Given the description of an element on the screen output the (x, y) to click on. 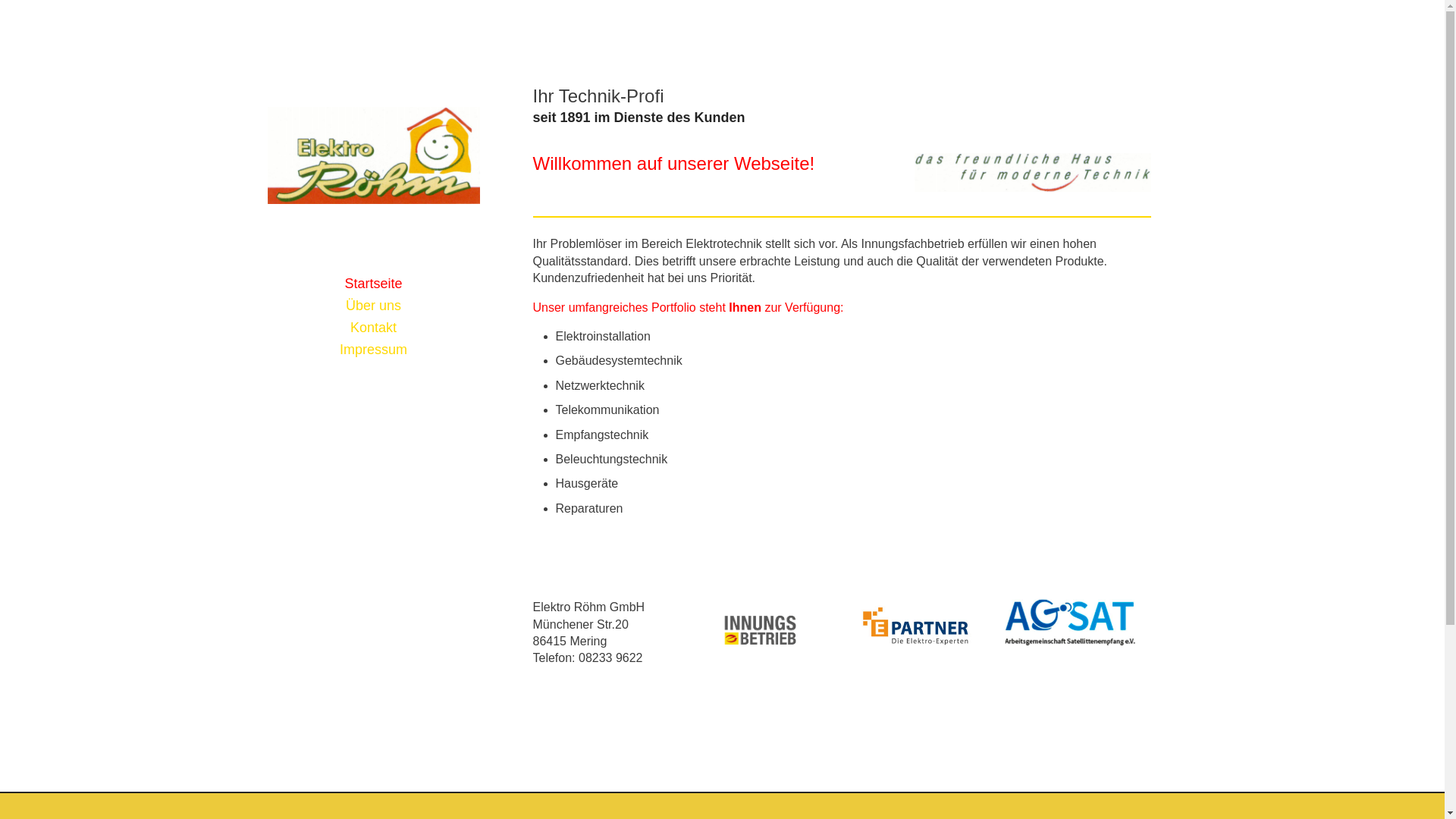
Impressum Element type: text (372, 349)
Startseite Element type: text (372, 283)
Kontakt Element type: text (372, 327)
